Given the description of an element on the screen output the (x, y) to click on. 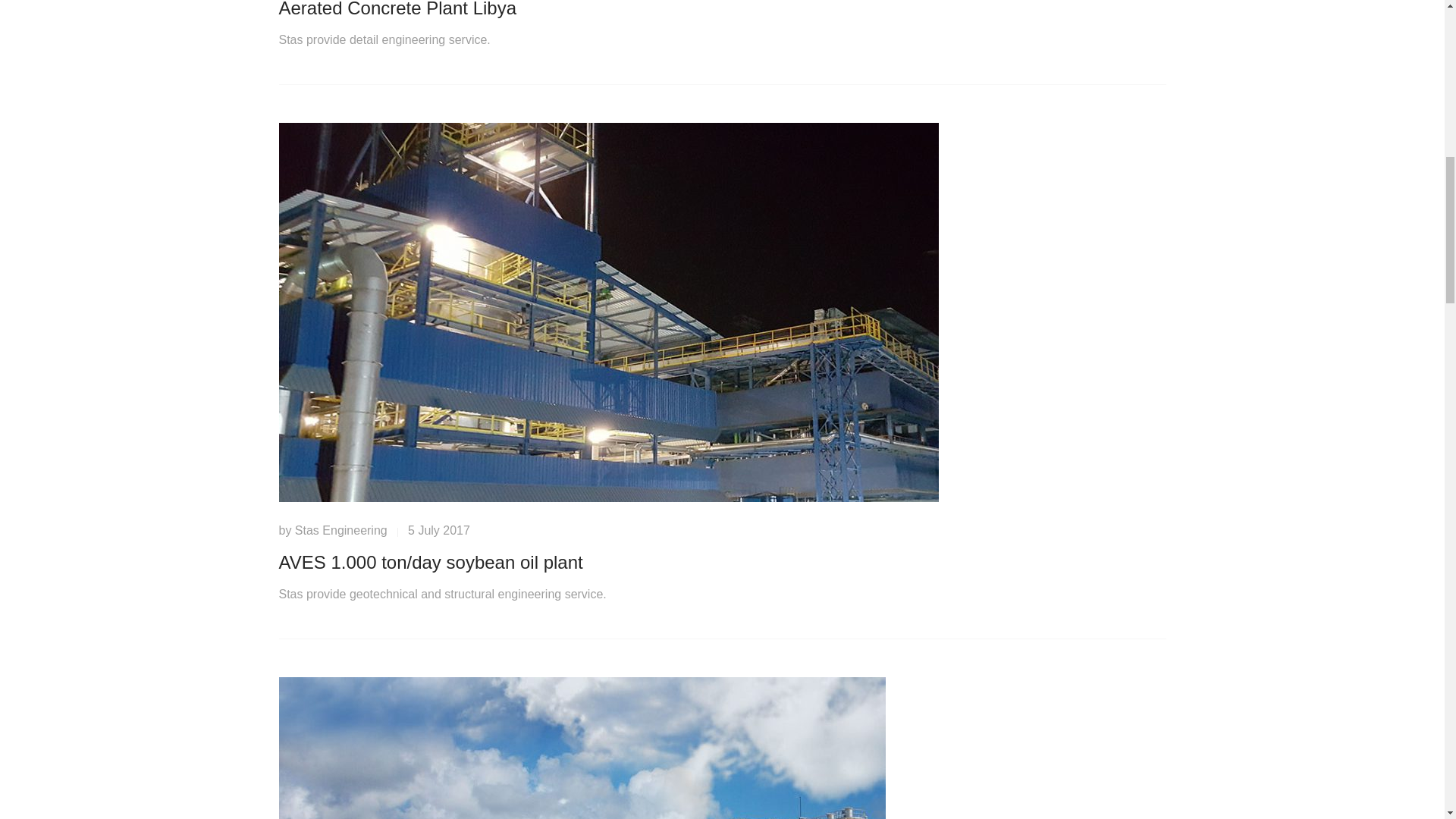
Stas Engineering (341, 530)
Aerated Concrete Plant Libya (397, 9)
5 July 2017 (438, 530)
